Given the description of an element on the screen output the (x, y) to click on. 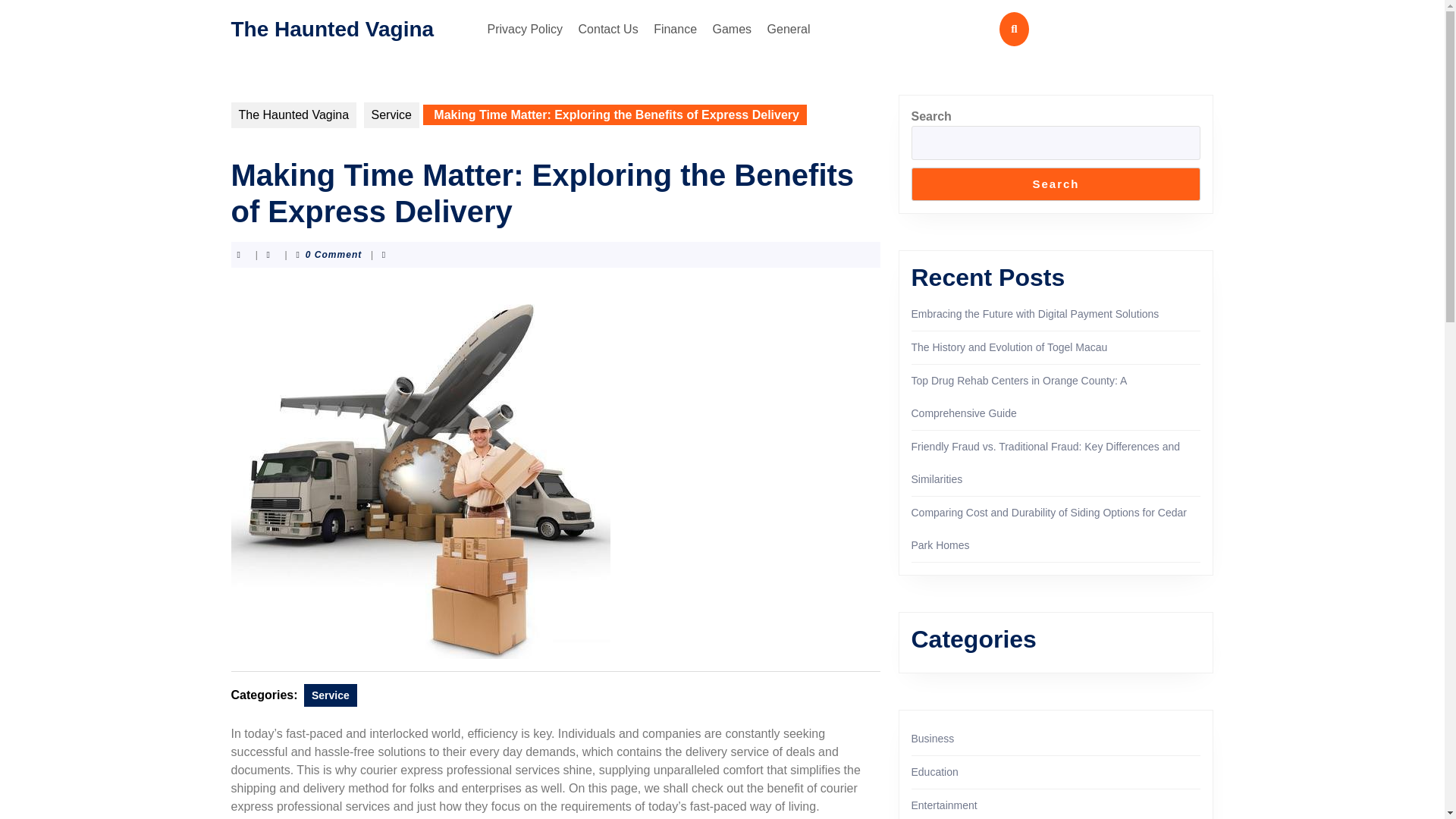
Games (732, 28)
Service (330, 694)
Search (1056, 183)
Service (391, 114)
The Haunted Vagina (293, 114)
The History and Evolution of Togel Macau (1009, 346)
General (788, 28)
Contact Us (608, 28)
The Haunted Vagina (331, 28)
Embracing the Future with Digital Payment Solutions (1034, 313)
Privacy Policy (524, 28)
Finance (675, 28)
